Given the description of an element on the screen output the (x, y) to click on. 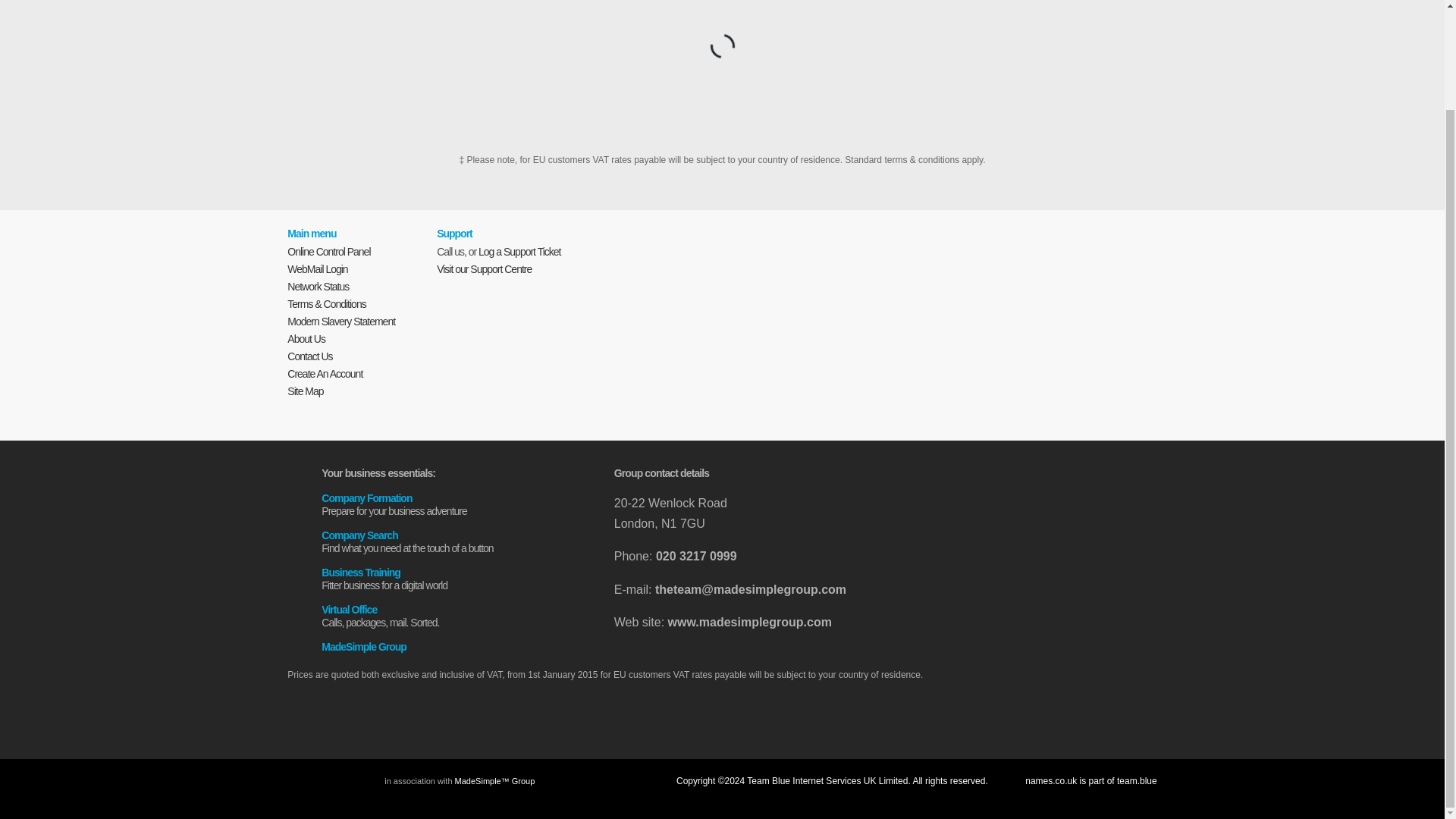
Network Status (317, 286)
TOP (441, 534)
About Us (722, 715)
Contact Us (305, 338)
WebMail Login (308, 356)
Create An Account (316, 268)
Online Control Panel (441, 609)
